Given the description of an element on the screen output the (x, y) to click on. 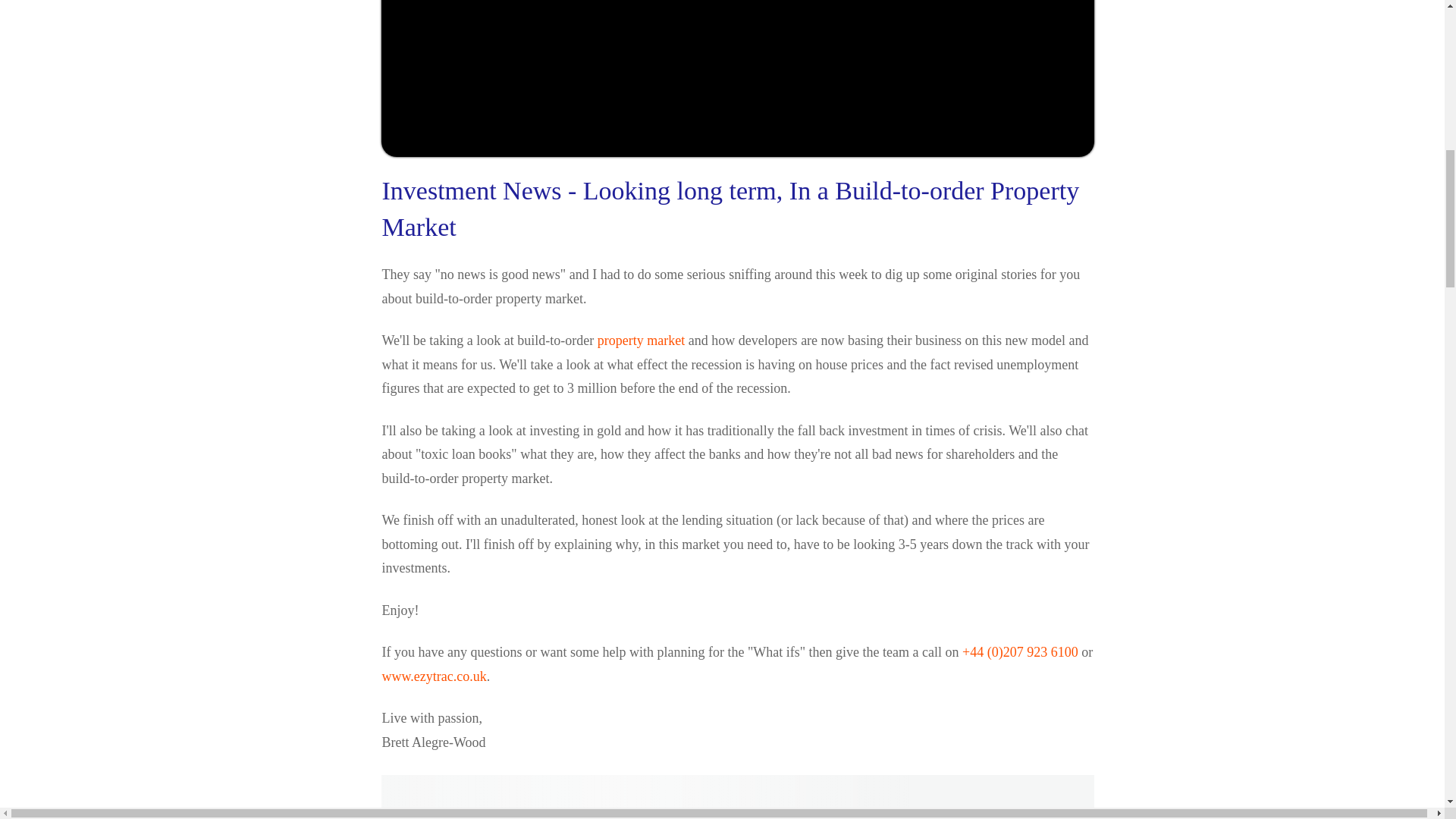
Investment News (471, 190)
property market (640, 340)
www.ezytrac.co.uk (433, 676)
Call with 8x8 (1020, 652)
